Given the description of an element on the screen output the (x, y) to click on. 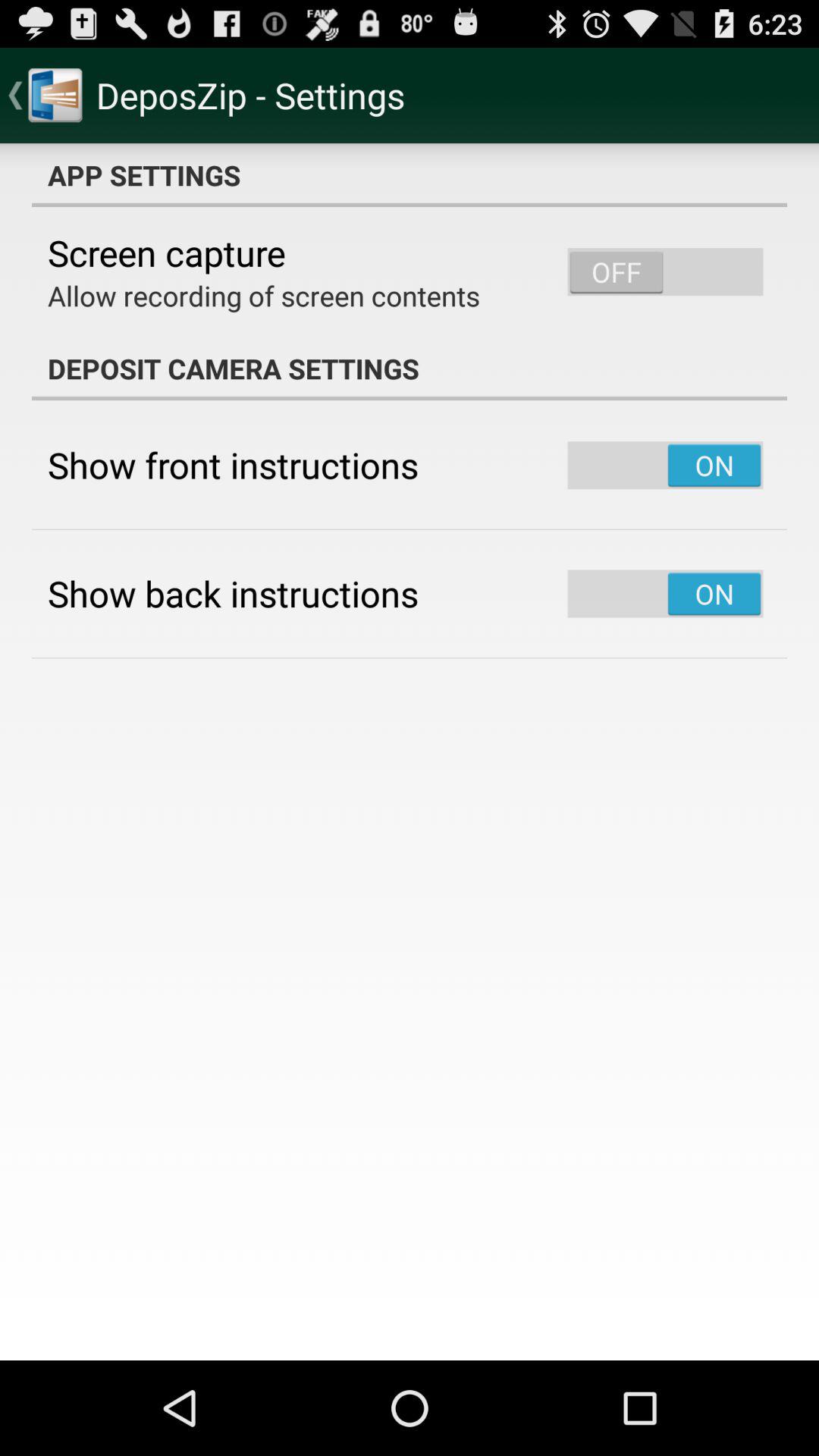
turn on screen capture app (166, 252)
